Given the description of an element on the screen output the (x, y) to click on. 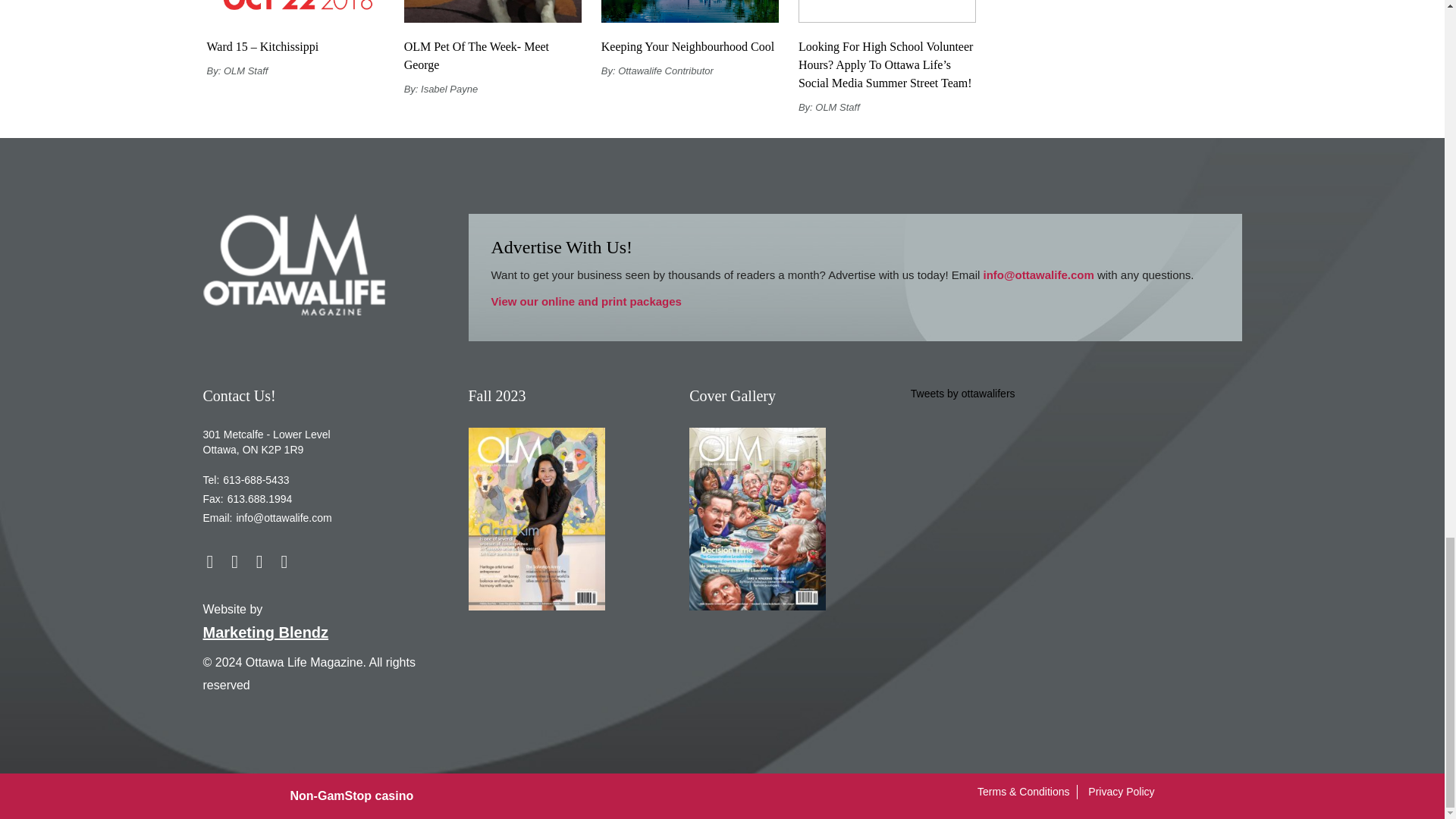
Cover Gallery (756, 518)
Fall 2022 (536, 518)
